Given the description of an element on the screen output the (x, y) to click on. 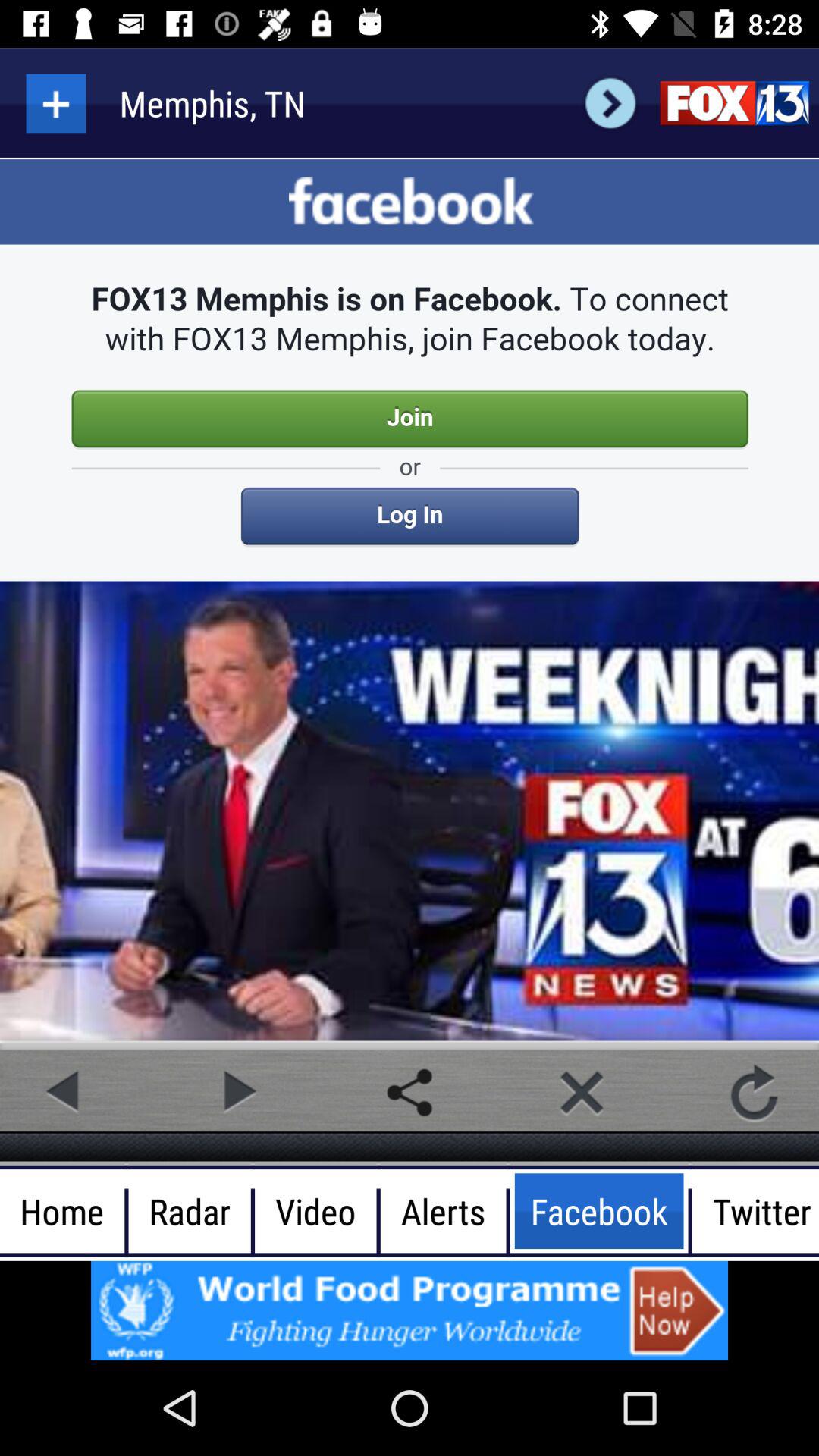
add location (55, 103)
